Given the description of an element on the screen output the (x, y) to click on. 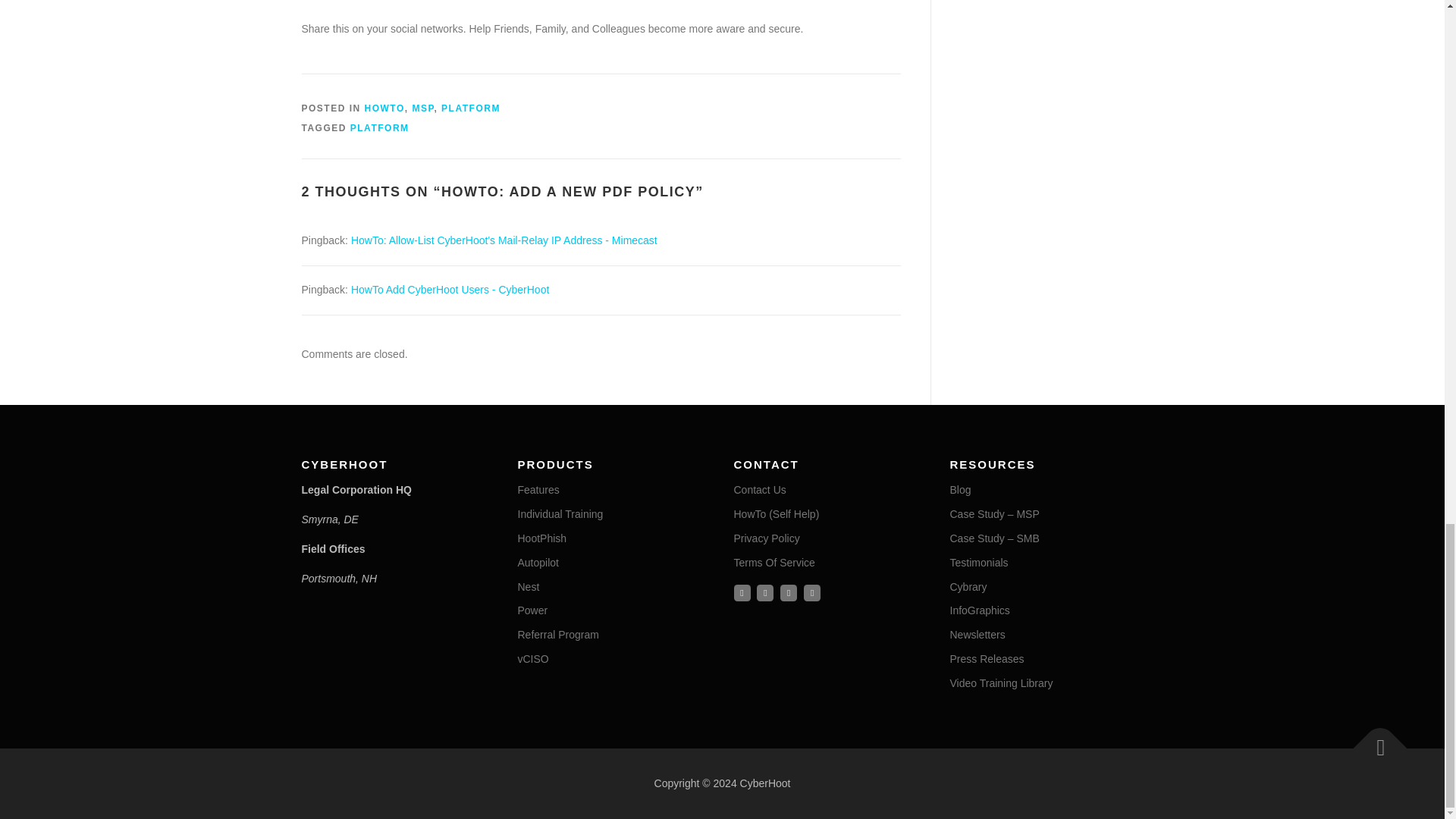
Facebook (742, 592)
Back To Top (1372, 740)
RSS (812, 592)
YouTube (788, 592)
